Given the description of an element on the screen output the (x, y) to click on. 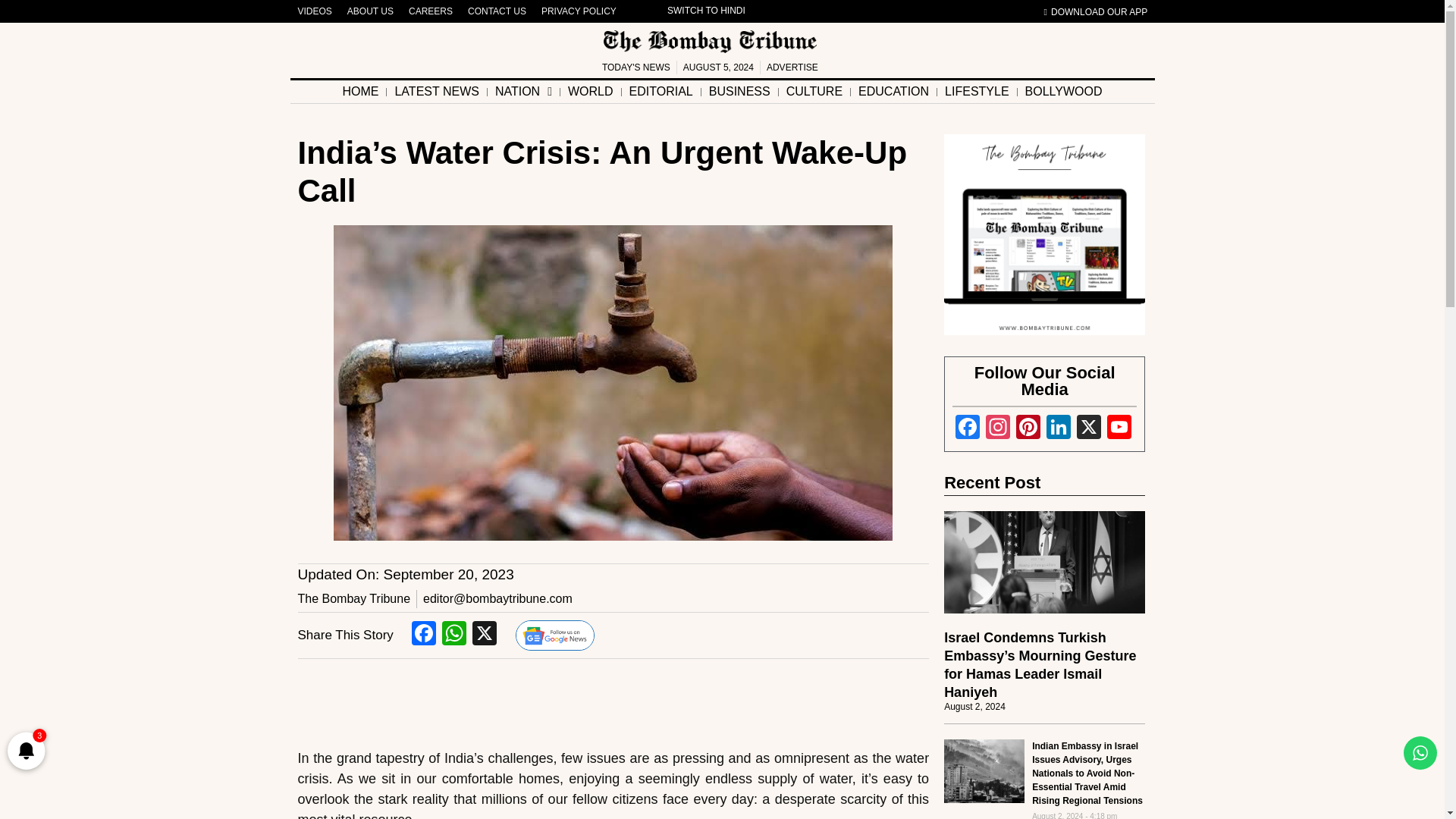
X (1088, 428)
CAREERS (430, 11)
WhatsApp (453, 634)
PRIVACY POLICY (579, 11)
DOWNLOAD OUR APP (1096, 12)
X (483, 634)
VIDEOS (314, 11)
Facebook (424, 634)
Instagram (997, 428)
Pinterest (1028, 428)
ABOUT US (370, 11)
CONTACT US (497, 11)
Facebook (967, 428)
LinkedIn Company (1058, 428)
SWITCH TO HINDI (706, 10)
